Given the description of an element on the screen output the (x, y) to click on. 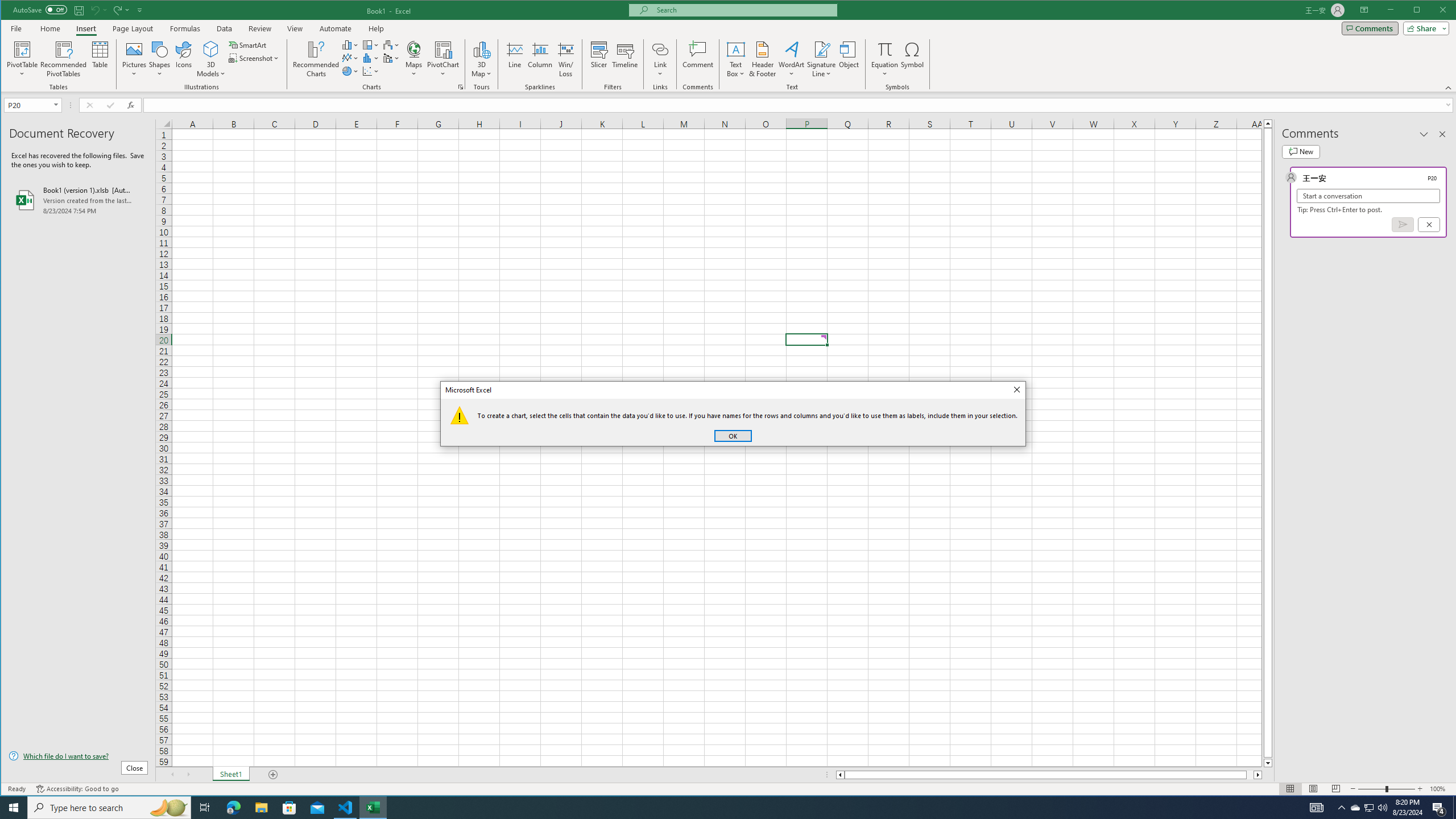
Collapse the Ribbon (1448, 87)
Text Box (735, 59)
Equation (884, 59)
Insert Pie or Doughnut Chart (350, 70)
Minimize (1419, 11)
Class: MsoCommandBar (728, 45)
Line up (1267, 122)
AutoSave (39, 9)
New comment (1300, 151)
Sheet1 (230, 774)
Q2790: 100% (1382, 807)
Maximize (1432, 11)
Symbol... (912, 59)
File Tab (16, 27)
